Given the description of an element on the screen output the (x, y) to click on. 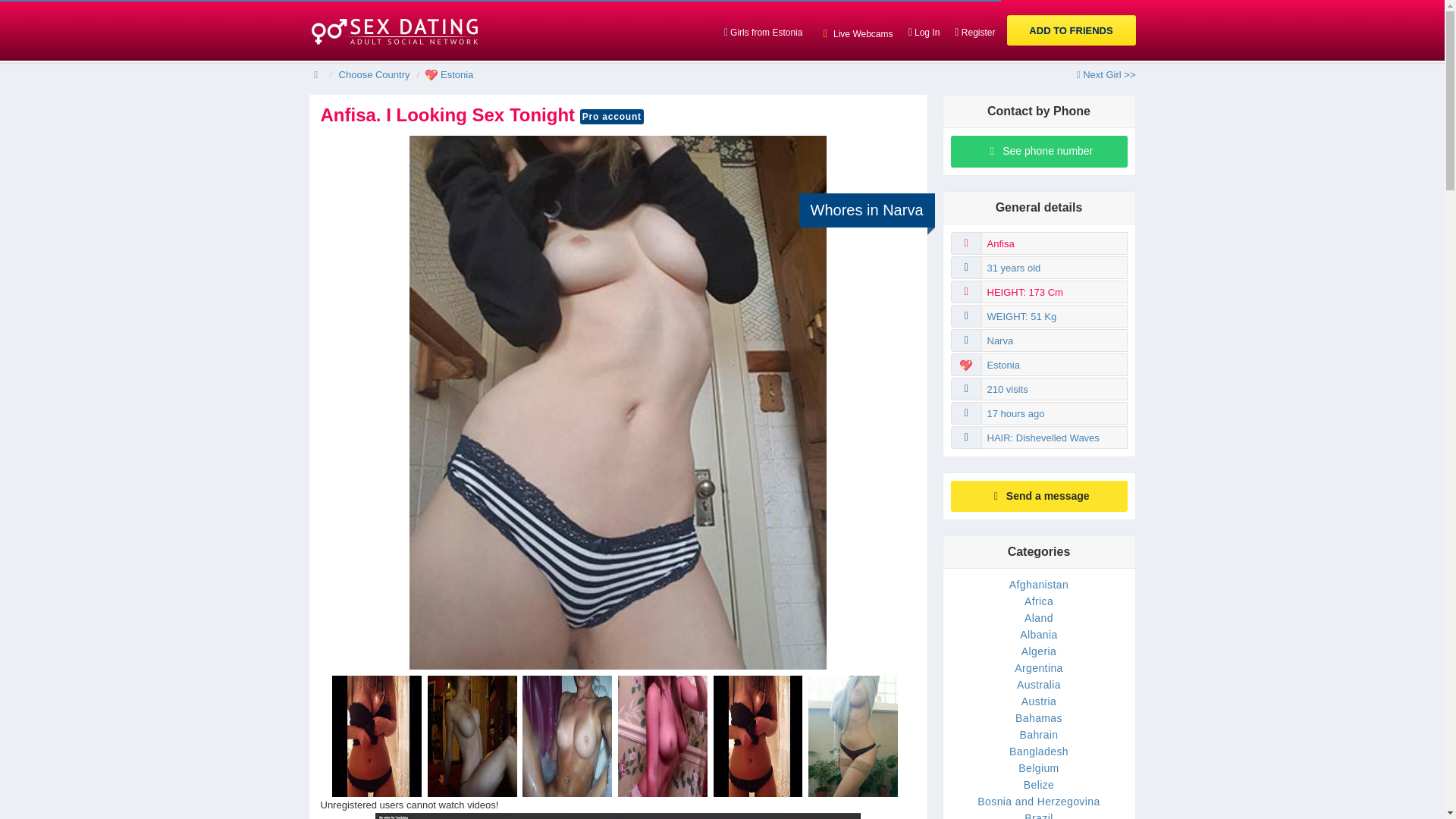
Bangladesh (1038, 751)
Africa (1038, 601)
Austria (1039, 701)
Australia (1038, 684)
Choose Country (374, 74)
Register (975, 30)
Aland (1038, 617)
See phone number (1038, 151)
Albania (1039, 634)
ADD TO FRIENDS (1071, 30)
